Given the description of an element on the screen output the (x, y) to click on. 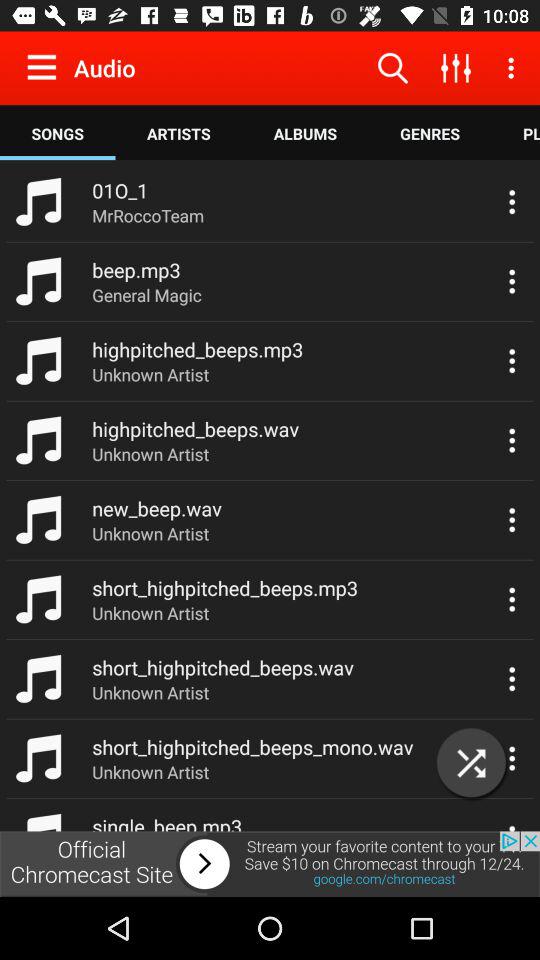
close selected page (471, 762)
